Given the description of an element on the screen output the (x, y) to click on. 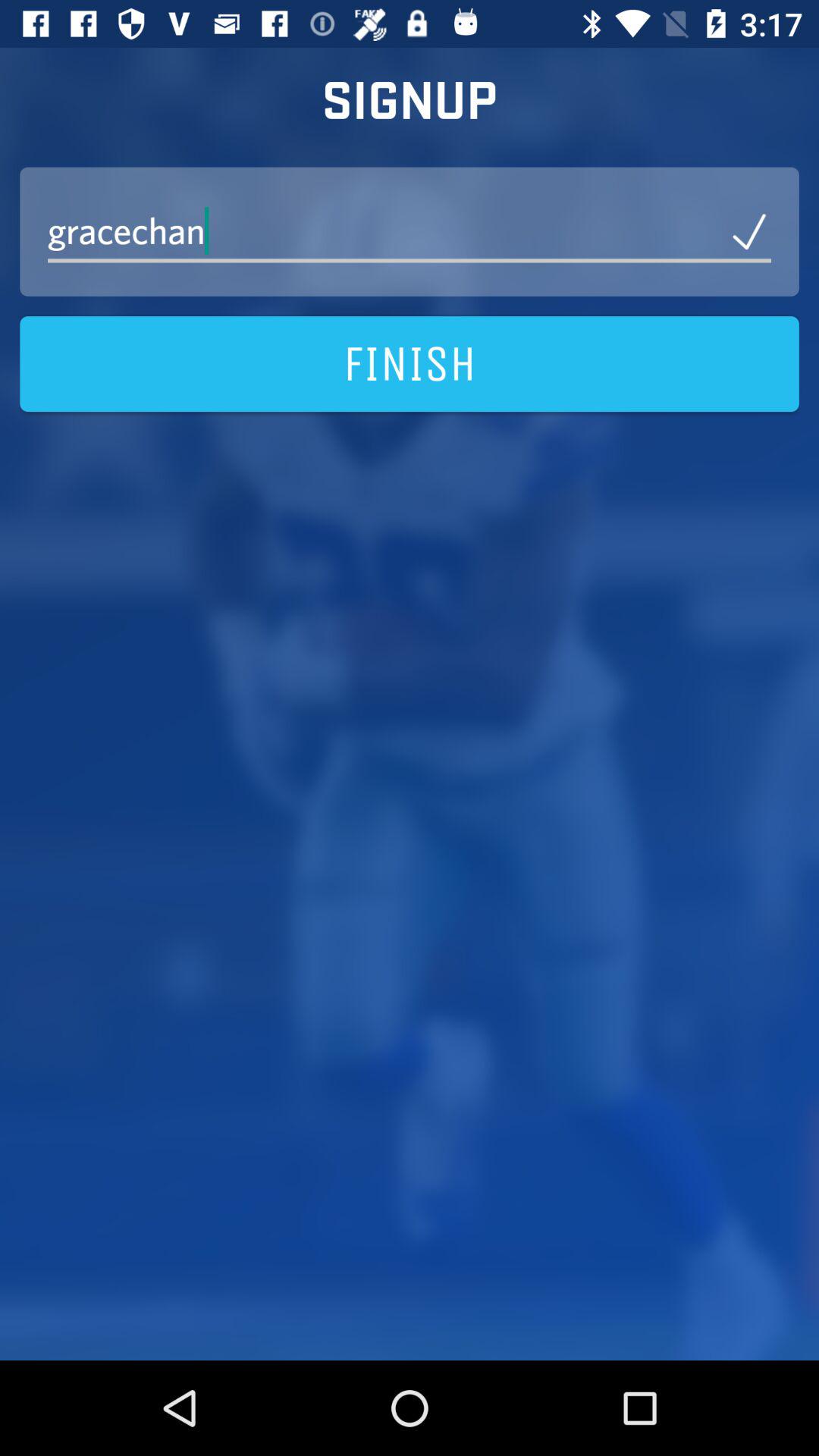
scroll to the gracechan icon (409, 231)
